Given the description of an element on the screen output the (x, y) to click on. 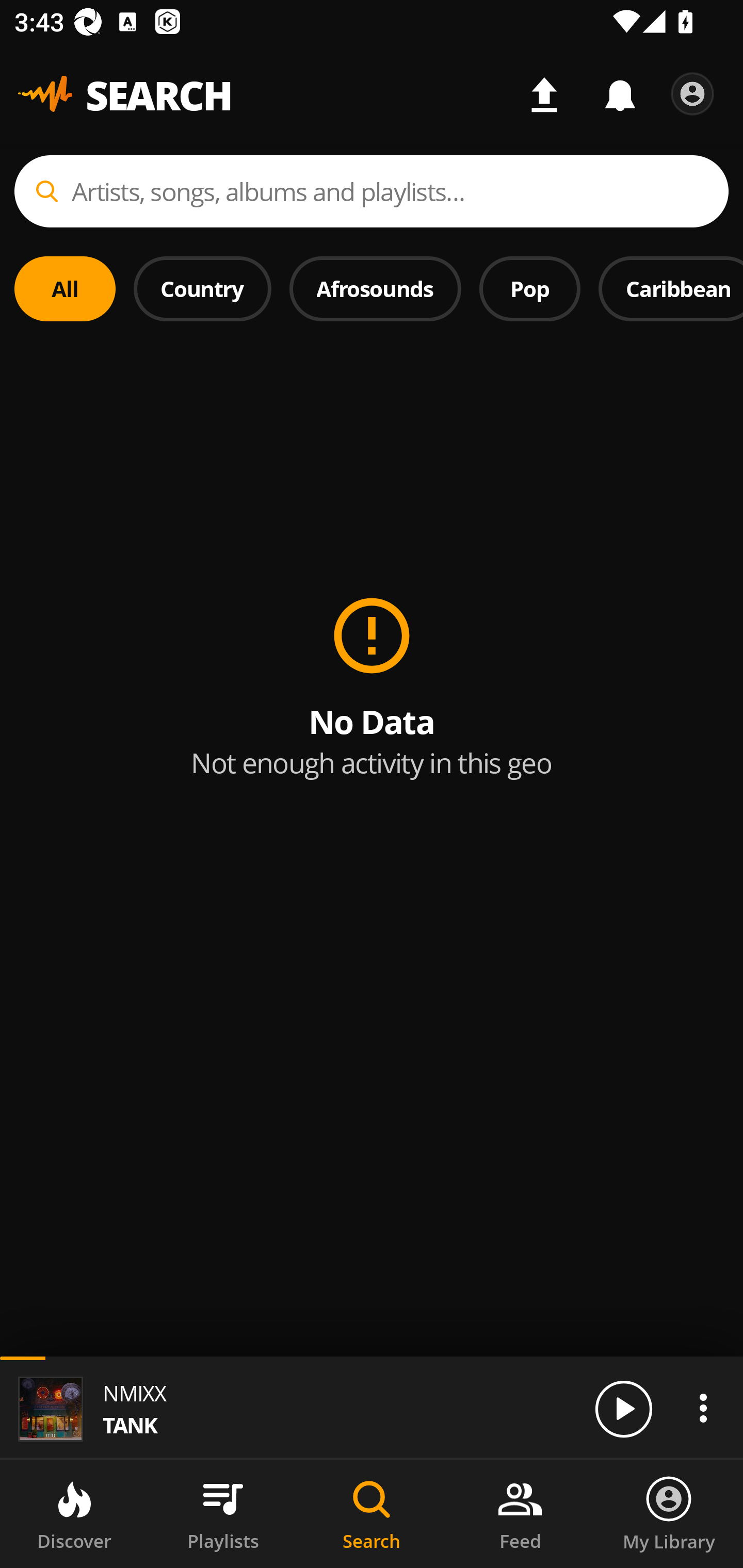
Settings (692, 94)
Artists, songs, albums and playlists… (371, 191)
All Country Afrosounds Pop Caribbean (371, 275)
All (64, 288)
Country (202, 288)
Afrosounds (375, 288)
Pop (529, 288)
Caribbean (670, 288)
Actions (703, 1407)
Play/Pause (623, 1408)
Discover (74, 1513)
Playlists (222, 1513)
Search (371, 1513)
Feed (519, 1513)
My Library (668, 1513)
